Given the description of an element on the screen output the (x, y) to click on. 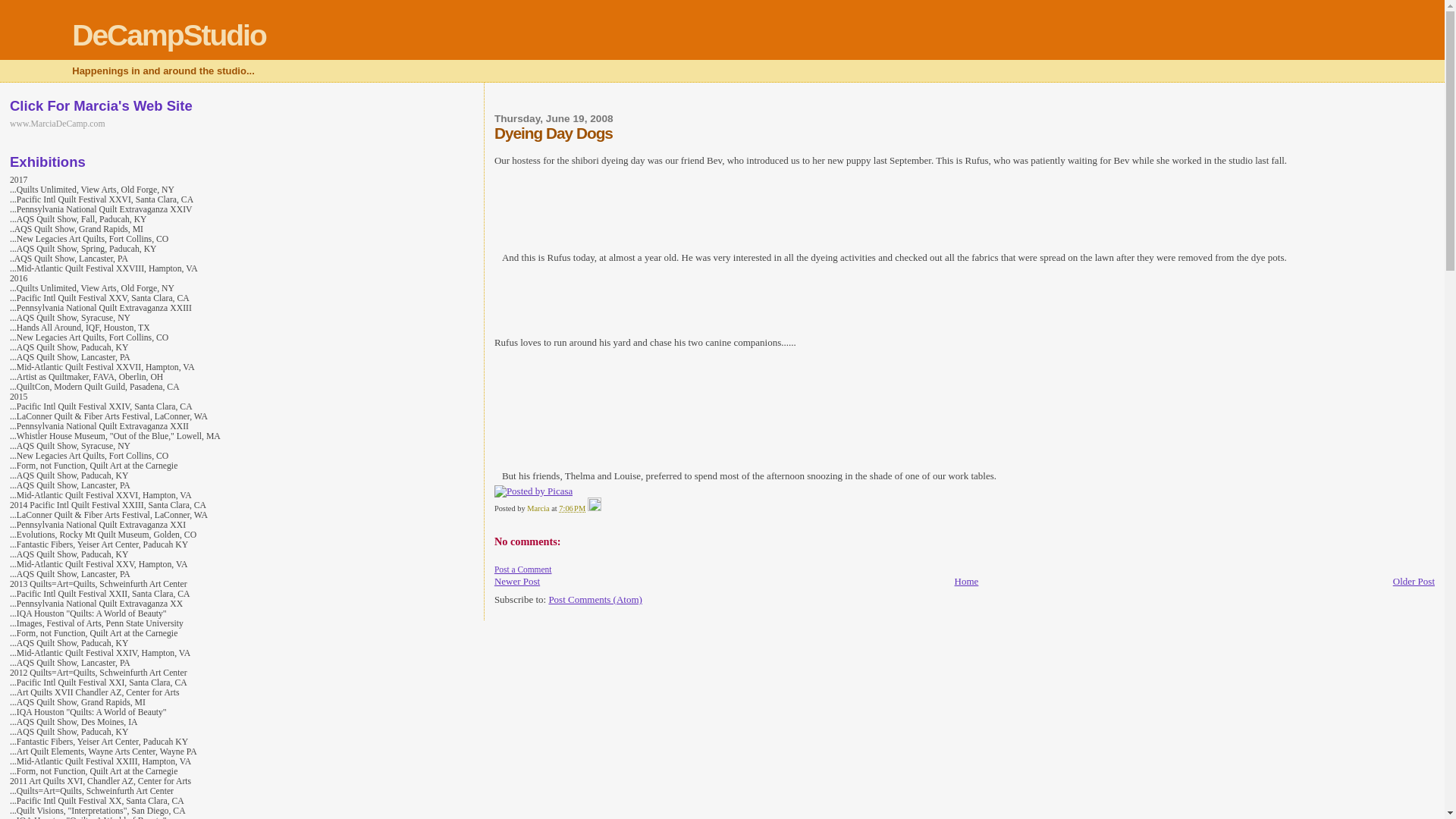
www.MarciaDeCamp.com (57, 123)
permanent link (572, 508)
DeCampStudio (168, 34)
Home (966, 581)
Post a Comment (523, 569)
Edit Post (594, 508)
author profile (539, 508)
Older Post (1413, 581)
Marcia (539, 508)
Older Post (1413, 581)
Newer Post (517, 581)
Newer Post (517, 581)
